Given the description of an element on the screen output the (x, y) to click on. 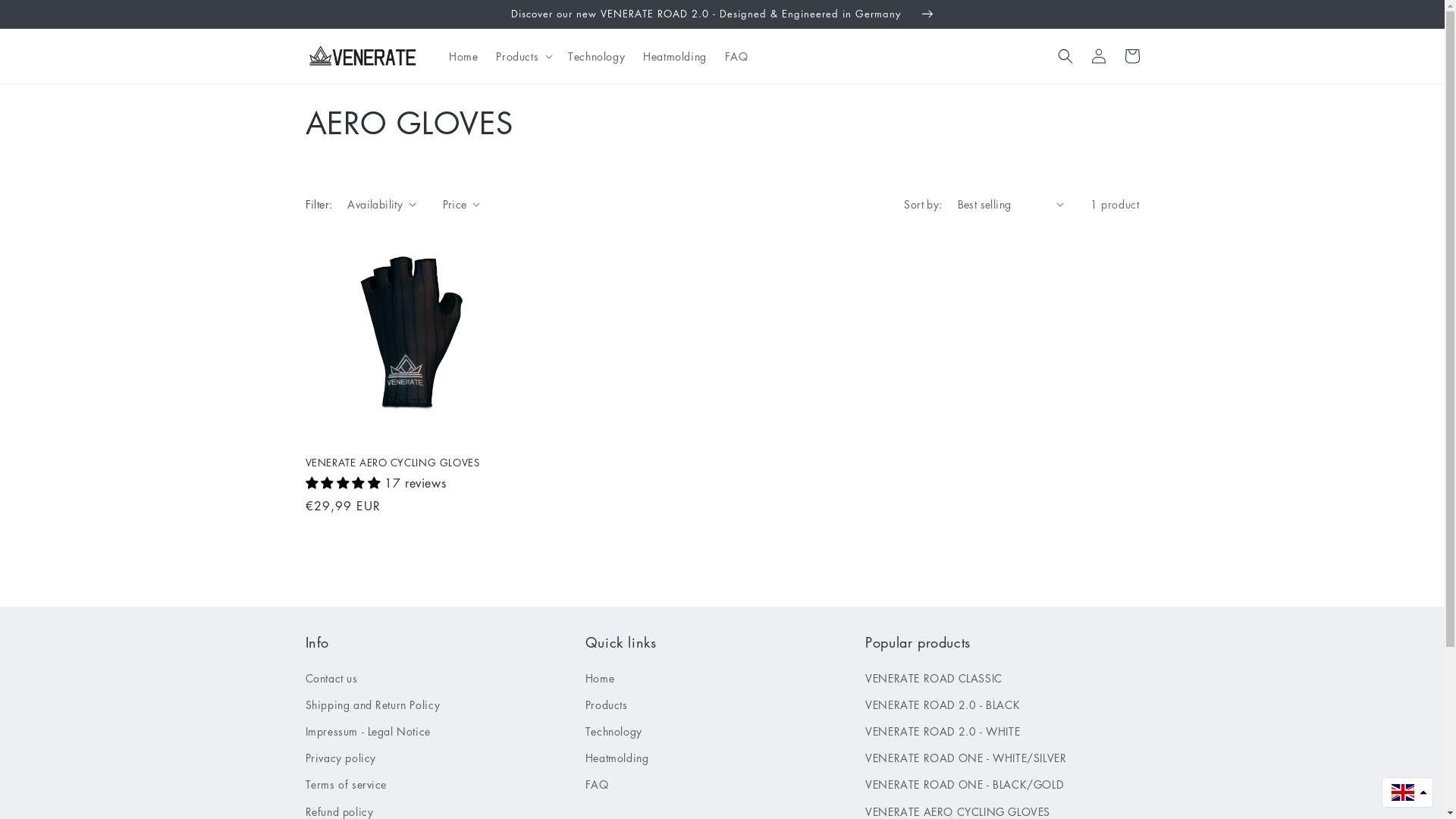
VENERATE ROAD 2.0 - BLACK Element type: text (942, 704)
Heatmolding Element type: text (674, 56)
VENERATE ROAD 2.0 - WHITE Element type: text (942, 731)
Technology Element type: text (613, 731)
VENERATE AERO CYCLING GLOVES Element type: text (406, 462)
VENERATE ROAD CLASSIC Element type: text (933, 679)
Impressum - Legal Notice Element type: text (366, 731)
Home Element type: text (462, 56)
VENERATE ROAD ONE - BLACK/GOLD Element type: text (964, 784)
FAQ Element type: text (736, 56)
Privacy policy Element type: text (339, 757)
Cart Element type: text (1131, 55)
Log in Element type: text (1097, 55)
FAQ Element type: text (596, 784)
Products Element type: text (606, 704)
Home Element type: text (599, 679)
Terms of service Element type: text (345, 784)
Shipping and Return Policy Element type: text (371, 704)
VENERATE ROAD ONE - WHITE/SILVER Element type: text (965, 757)
Heatmolding Element type: text (617, 757)
Contact us Element type: text (330, 679)
Technology Element type: text (595, 56)
